Given the description of an element on the screen output the (x, y) to click on. 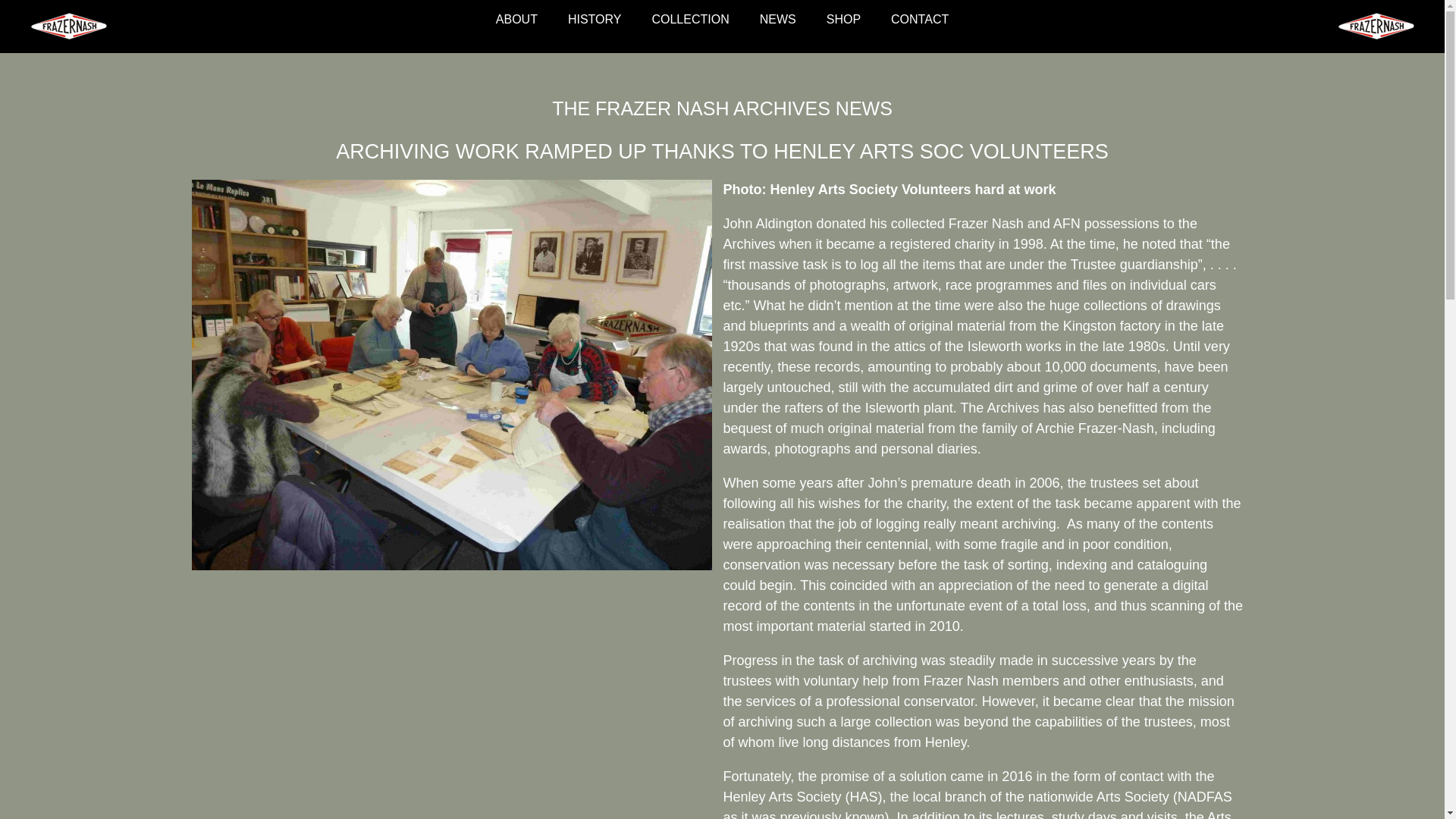
NEWS (778, 19)
SHOP (843, 19)
COLLECTION (689, 19)
ABOUT (516, 19)
CONTACT (920, 19)
HISTORY (594, 19)
